Given the description of an element on the screen output the (x, y) to click on. 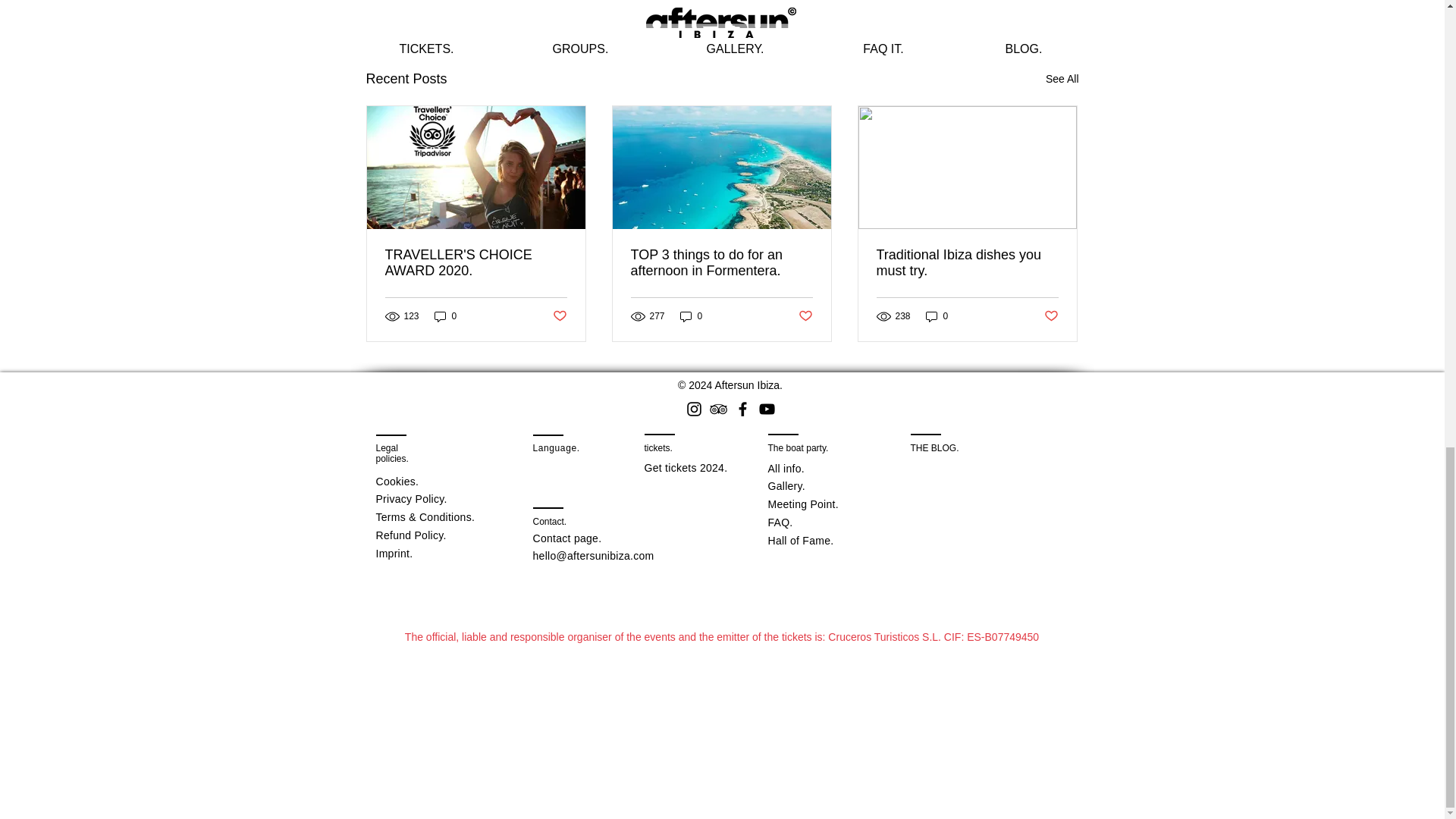
Post not marked as liked (995, 2)
0 (937, 315)
TRAVELLER'S CHOICE AWARD 2020. (476, 263)
TOP 3 things to do for an afternoon in Formentera. (721, 263)
Post not marked as liked (804, 316)
See All (1061, 78)
Post not marked as liked (558, 316)
Post not marked as liked (1050, 316)
0 (691, 315)
Traditional Ibiza dishes you must try. (967, 263)
